Given the description of an element on the screen output the (x, y) to click on. 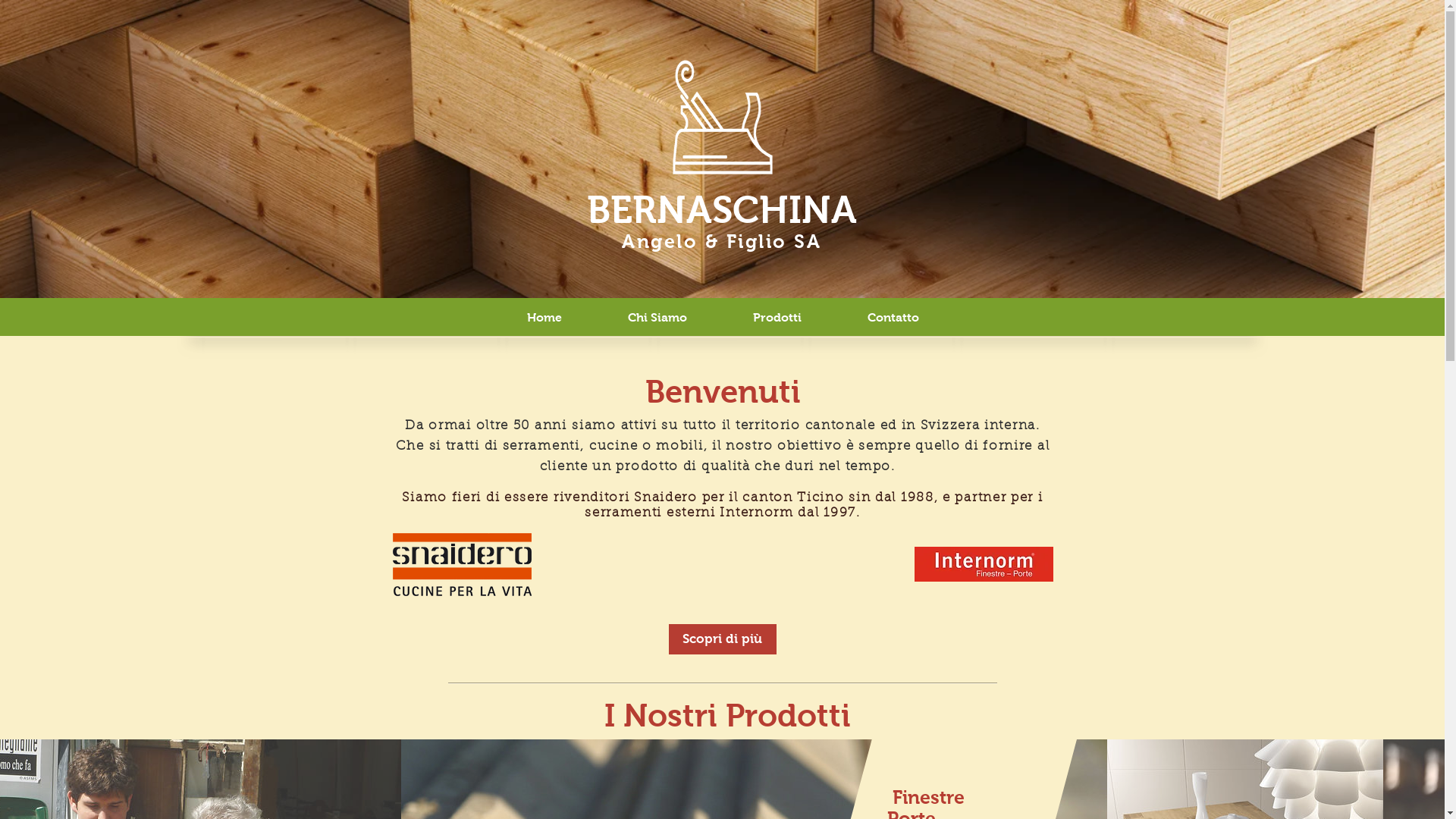
Home Element type: text (544, 316)
Finestre Element type: text (927, 796)
Chi Siamo Element type: text (656, 316)
Contatto Element type: text (892, 316)
BERNASCHINA Element type: text (721, 209)
Prodotti Element type: text (777, 316)
